Given the description of an element on the screen output the (x, y) to click on. 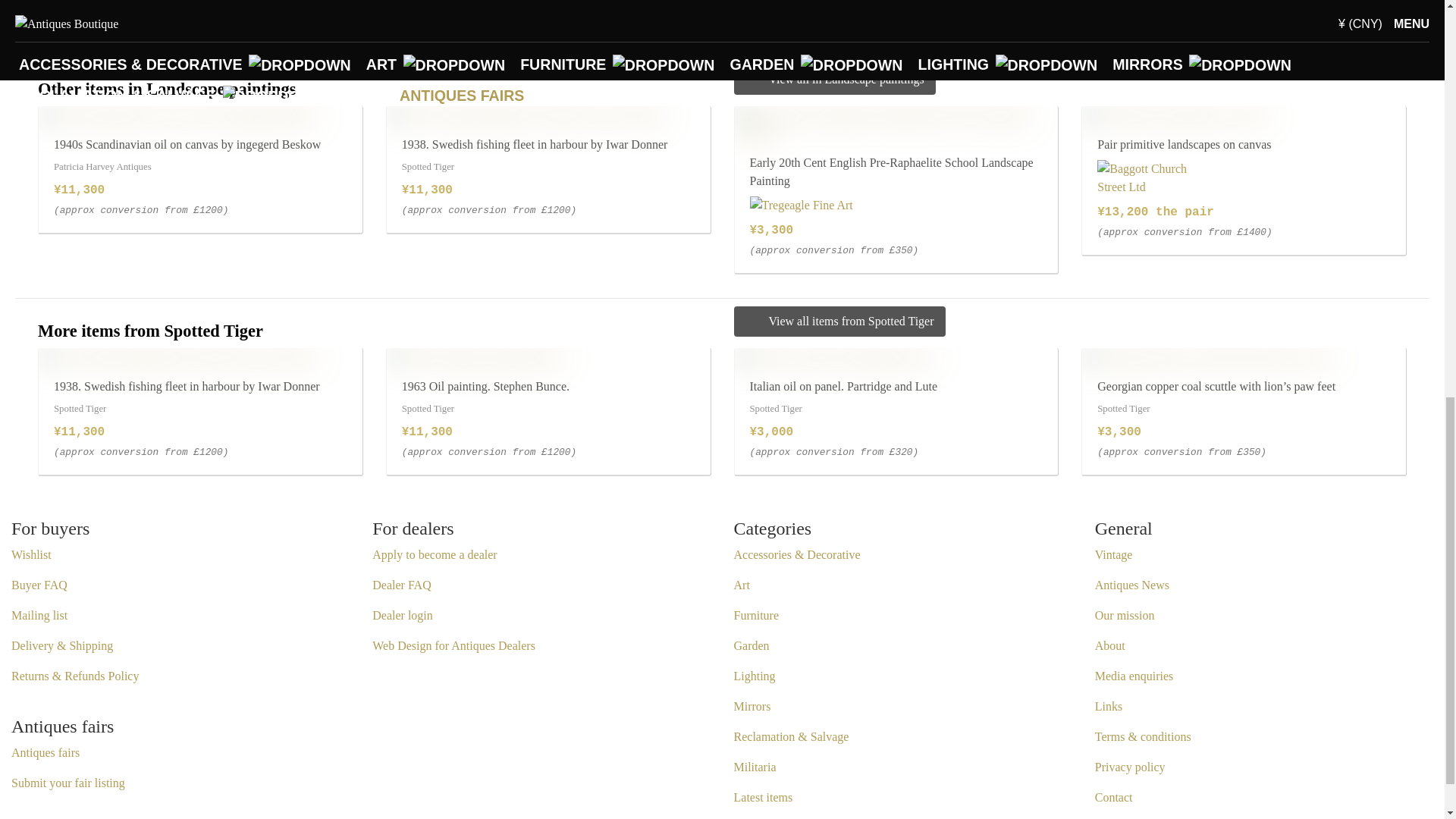
Pair primitive landscapes on canvas (1174, 115)
1938. Swedish fishing fleet in harbour by Iwar Donner (178, 357)
Italian oil on panel. Partridge and Lute (833, 357)
1940s Scandinavian oil on canvas by ingegerd Beskow (178, 115)
1963 Oil painting. Stephen Bunce. (476, 357)
1938. Swedish fishing fleet in harbour by Iwar Donner (526, 115)
